Given the description of an element on the screen output the (x, y) to click on. 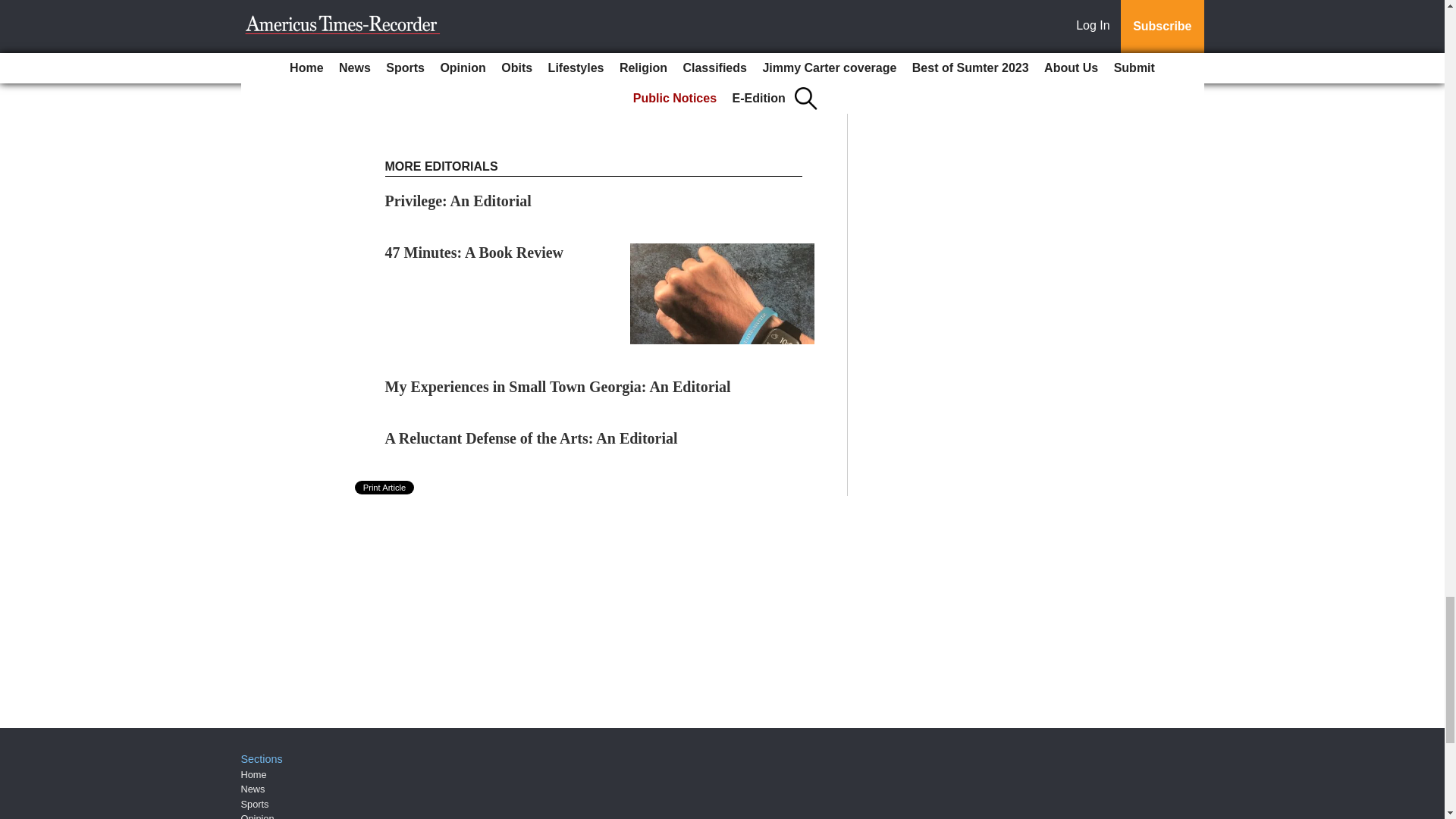
Opinion (258, 816)
News (252, 788)
A Reluctant Defense of the Arts: An Editorial (531, 437)
Sports (255, 803)
My Experiences in Small Town Georgia: An Editorial (557, 386)
47 Minutes: A Book Review (474, 252)
A Reluctant Defense of the Arts: An Editorial (531, 437)
Print Article (384, 487)
Privilege: An Editorial (458, 200)
47 Minutes: A Book Review (474, 252)
My Experiences in Small Town Georgia: An Editorial (557, 386)
Home (253, 774)
Privilege: An Editorial (458, 200)
